Given the description of an element on the screen output the (x, y) to click on. 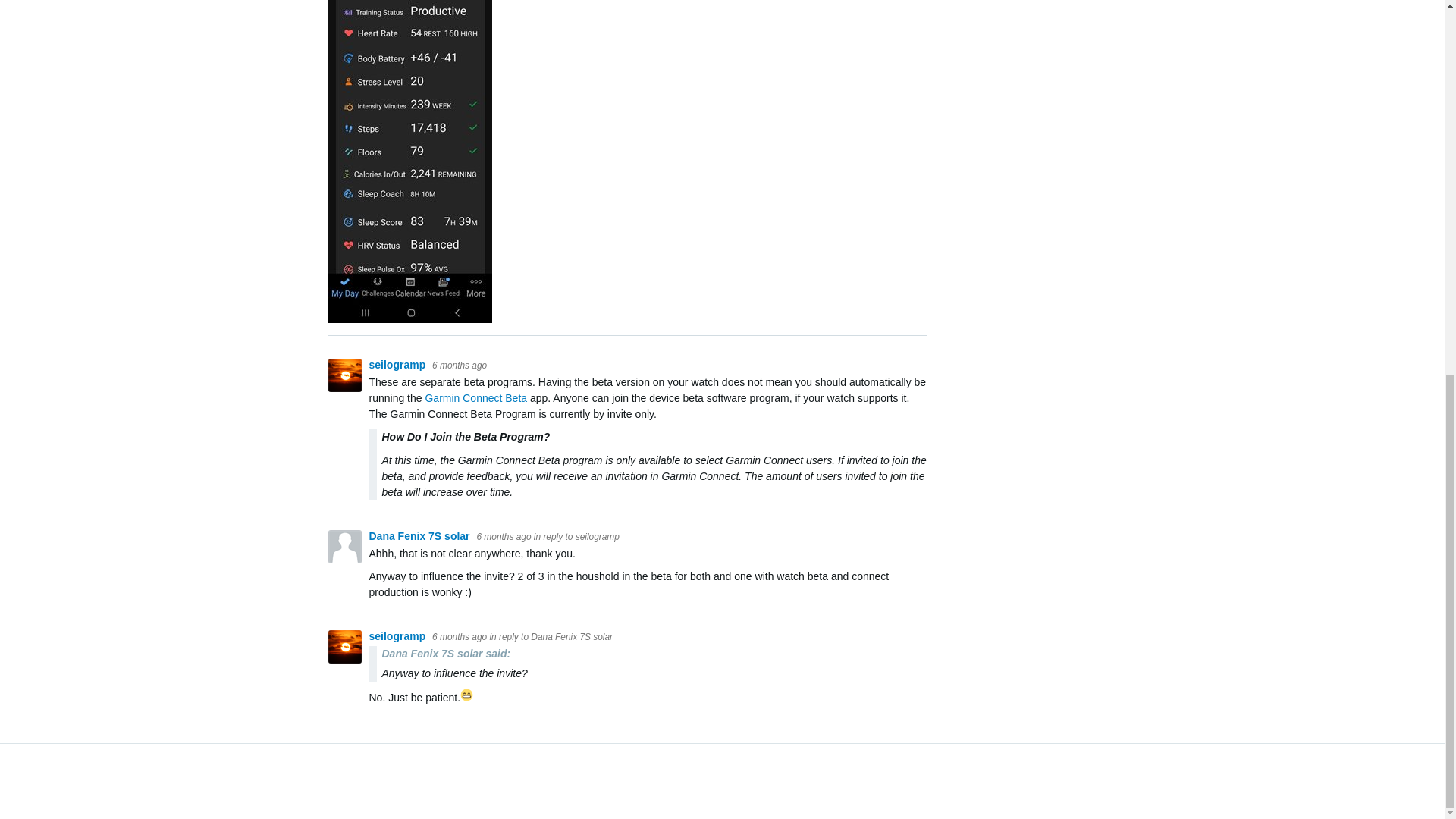
6 months ago (459, 365)
seilogramp (398, 364)
Grin (466, 697)
